Given the description of an element on the screen output the (x, y) to click on. 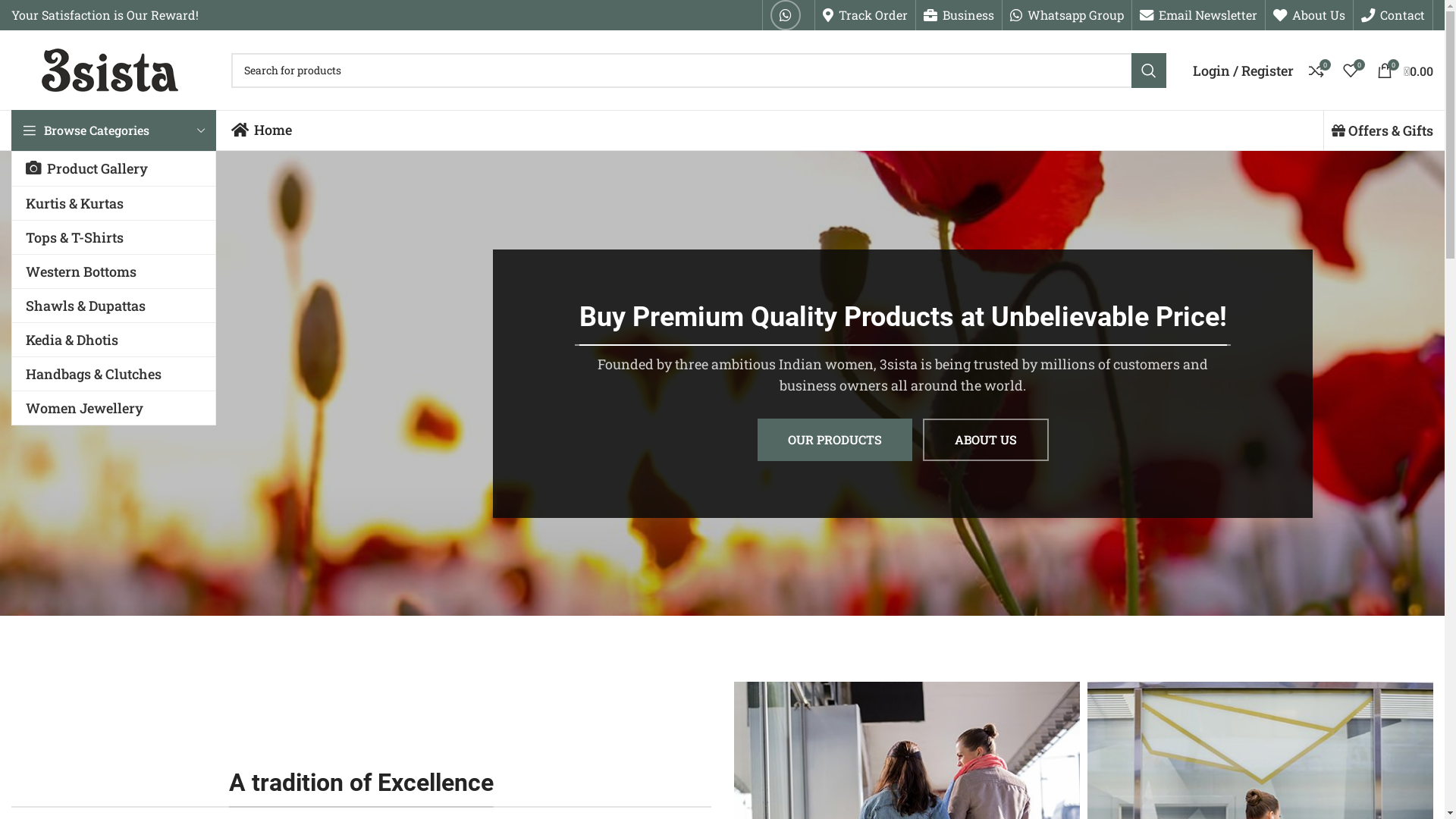
OUR PRODUCTS Element type: text (834, 439)
ABOUT US Element type: text (985, 439)
About Us Element type: text (1309, 15)
Contact Element type: text (1392, 15)
SEARCH Element type: text (1148, 70)
Women Jewellery Element type: text (113, 407)
Search for products Element type: hover (698, 70)
Home Element type: text (261, 130)
Email Newsletter Element type: text (1198, 15)
Product Gallery Element type: text (113, 168)
Business Element type: text (958, 15)
Tops & T-Shirts Element type: text (113, 237)
Handbags & Clutches Element type: text (113, 373)
Track Order Element type: text (864, 15)
0 Element type: text (1316, 69)
Shawls & Dupattas Element type: text (113, 305)
0 Element type: text (1350, 69)
Kurtis & Kurtas Element type: text (113, 202)
Login / Register Element type: text (1243, 69)
Western Bottoms Element type: text (113, 271)
 Offers & Gifts Element type: text (1382, 130)
Kedia & Dhotis Element type: text (113, 339)
Whatsapp Group Element type: text (1066, 15)
